Given the description of an element on the screen output the (x, y) to click on. 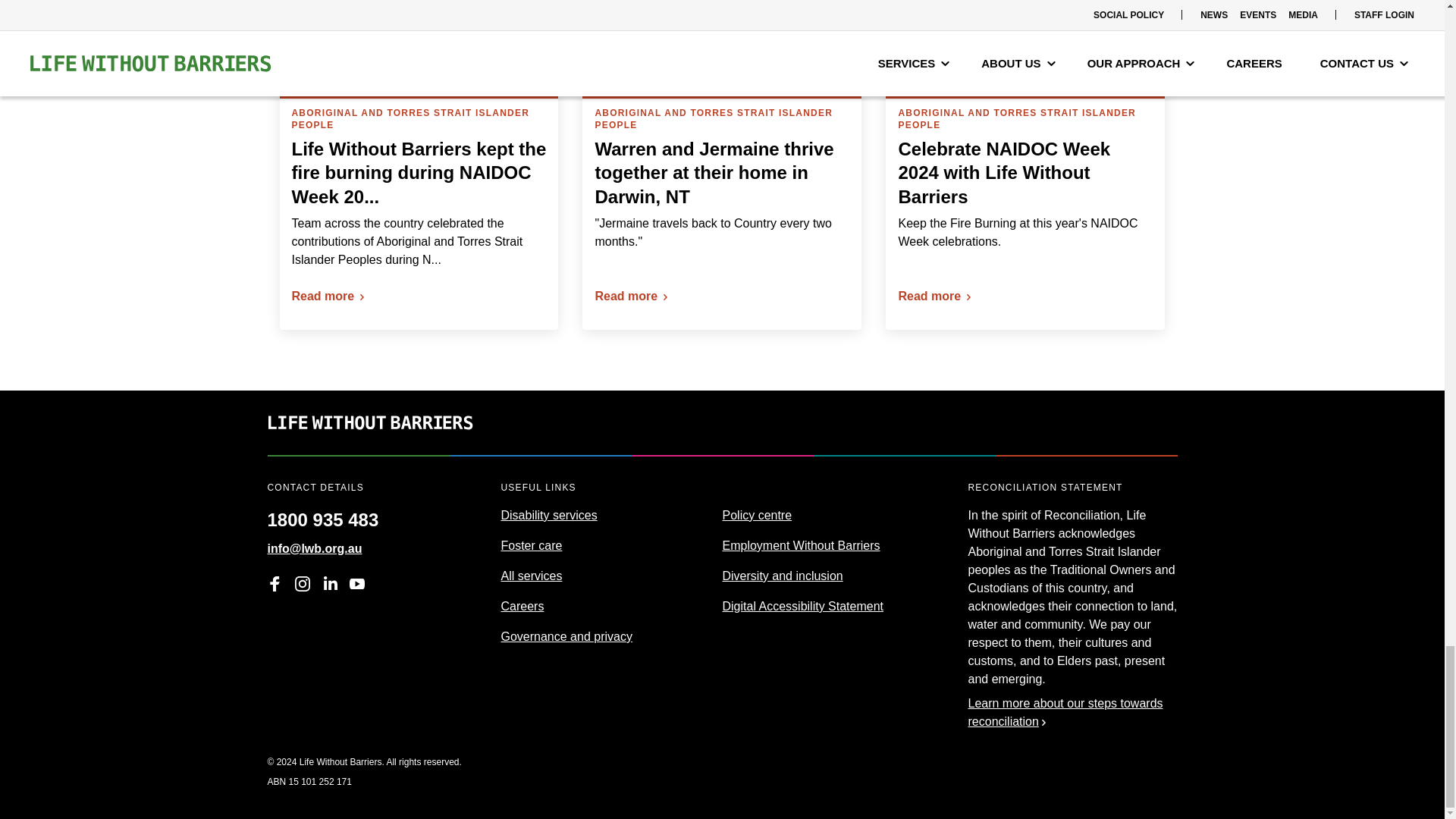
Employment Without Barriers (800, 545)
Foster care (531, 545)
Life Without Barriers home page (368, 445)
Diversity and inclusion (782, 575)
Careers (521, 605)
1800 935 483 (322, 513)
Governance and privacy (565, 635)
All services (531, 575)
Disability services (548, 514)
Policy centre (757, 514)
